Given the description of an element on the screen output the (x, y) to click on. 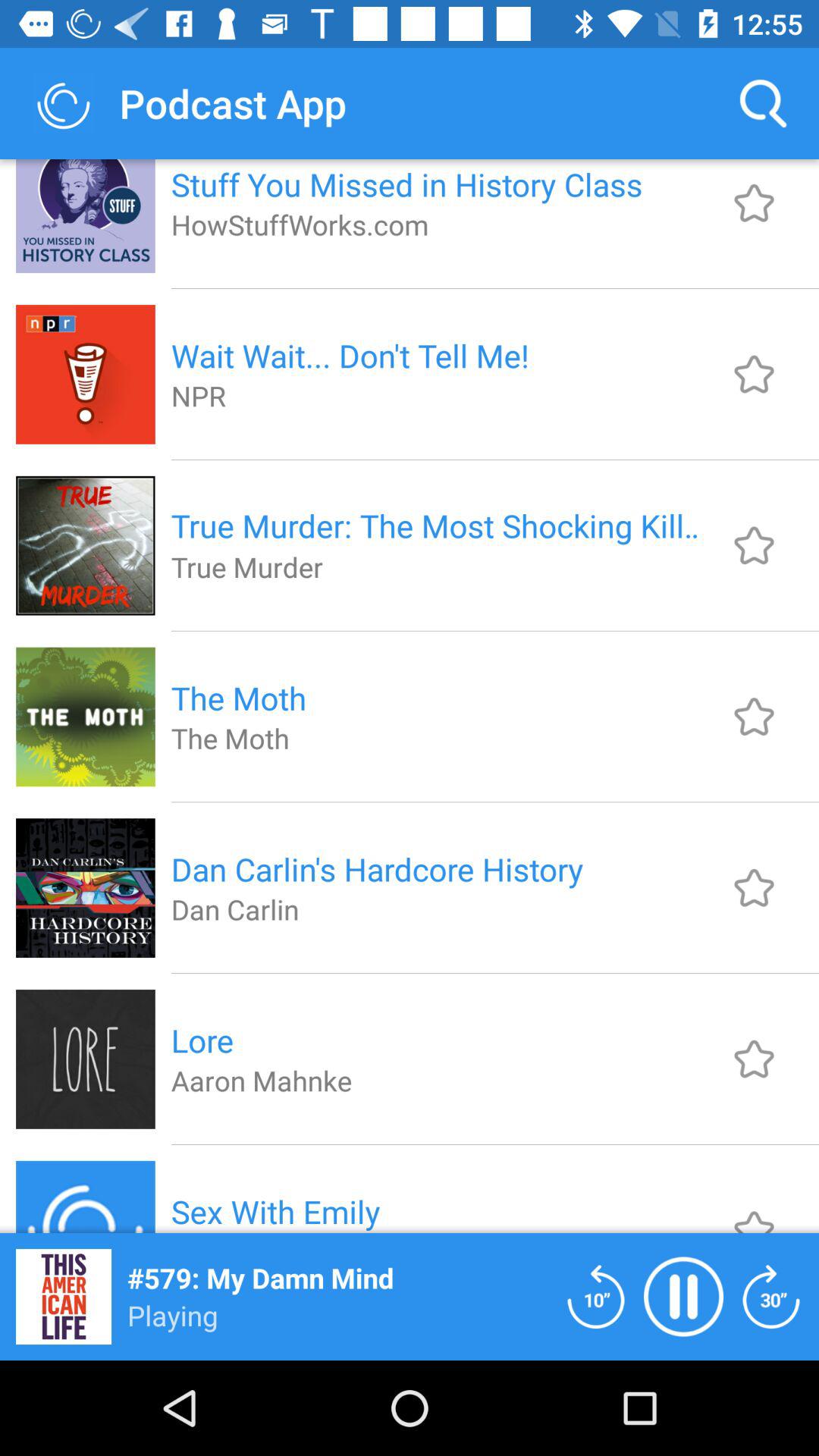
favorite the podcast (754, 1209)
